Given the description of an element on the screen output the (x, y) to click on. 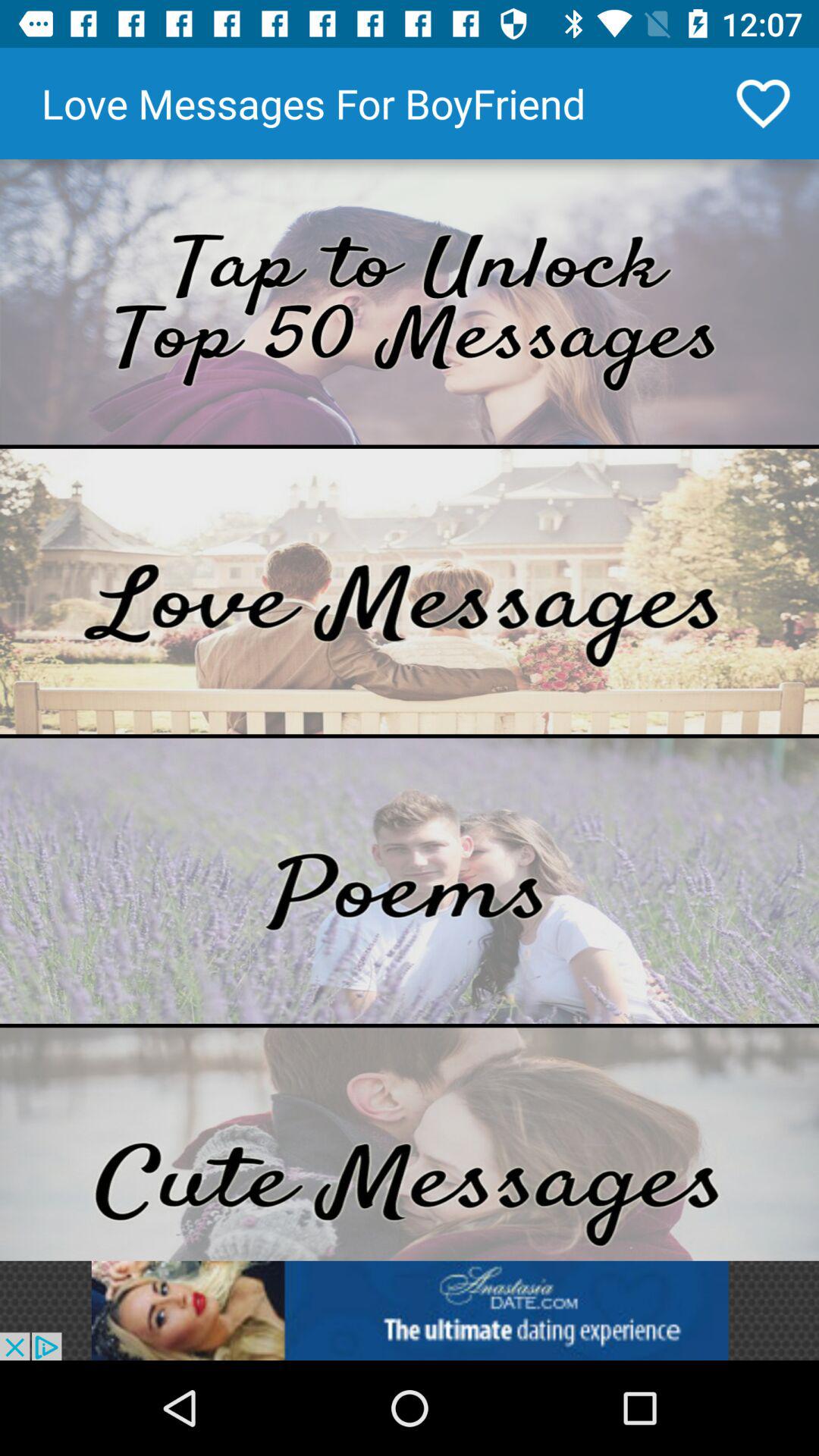
open an advertisement (409, 1310)
